Given the description of an element on the screen output the (x, y) to click on. 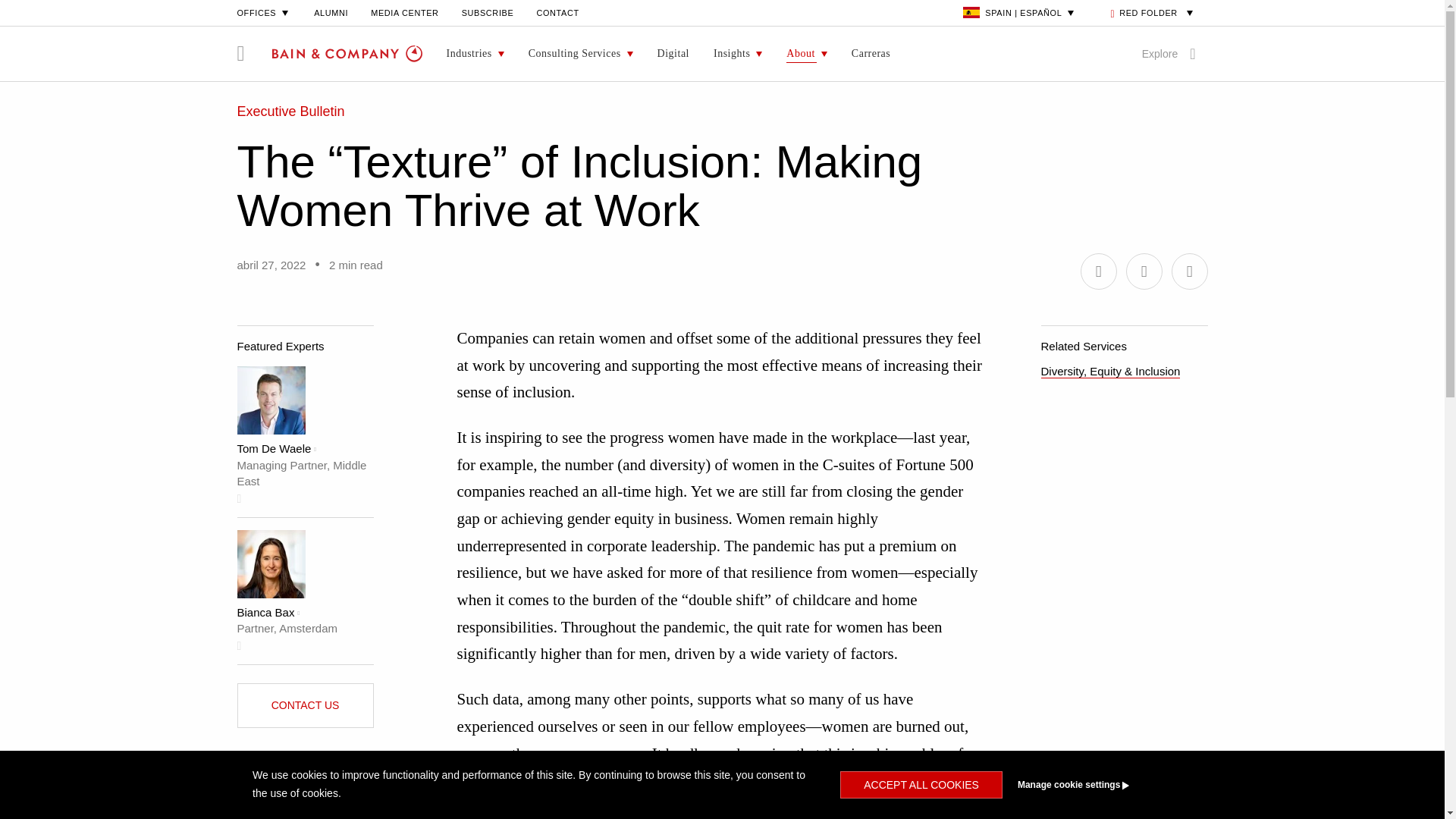
OFFICES (263, 12)
Manage cookie settings (1101, 784)
ACCEPT ALL COOKIES (921, 784)
